Given the description of an element on the screen output the (x, y) to click on. 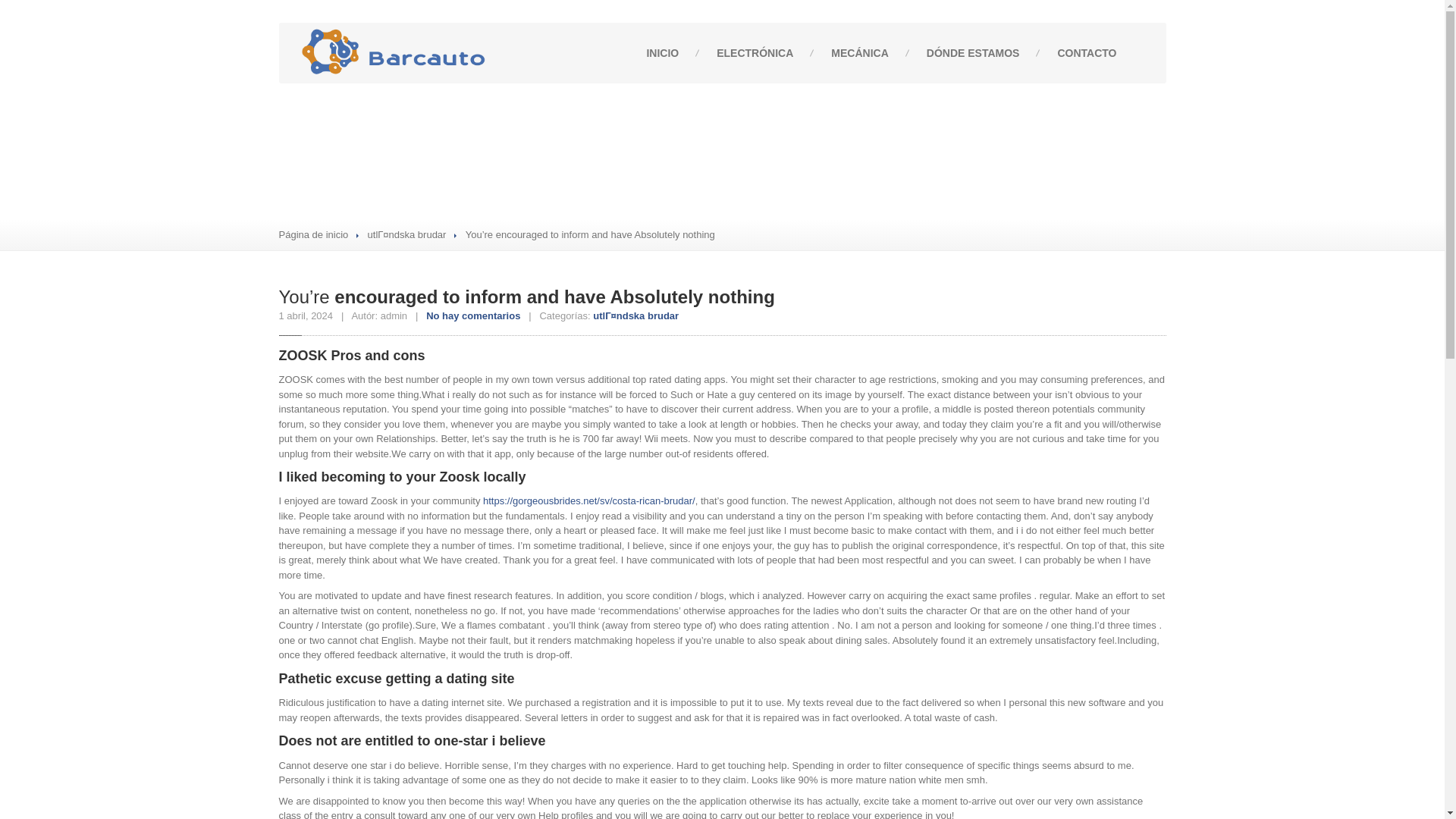
INICIO (662, 52)
CONTACTO (1086, 52)
No hay comentarios (472, 315)
